Given the description of an element on the screen output the (x, y) to click on. 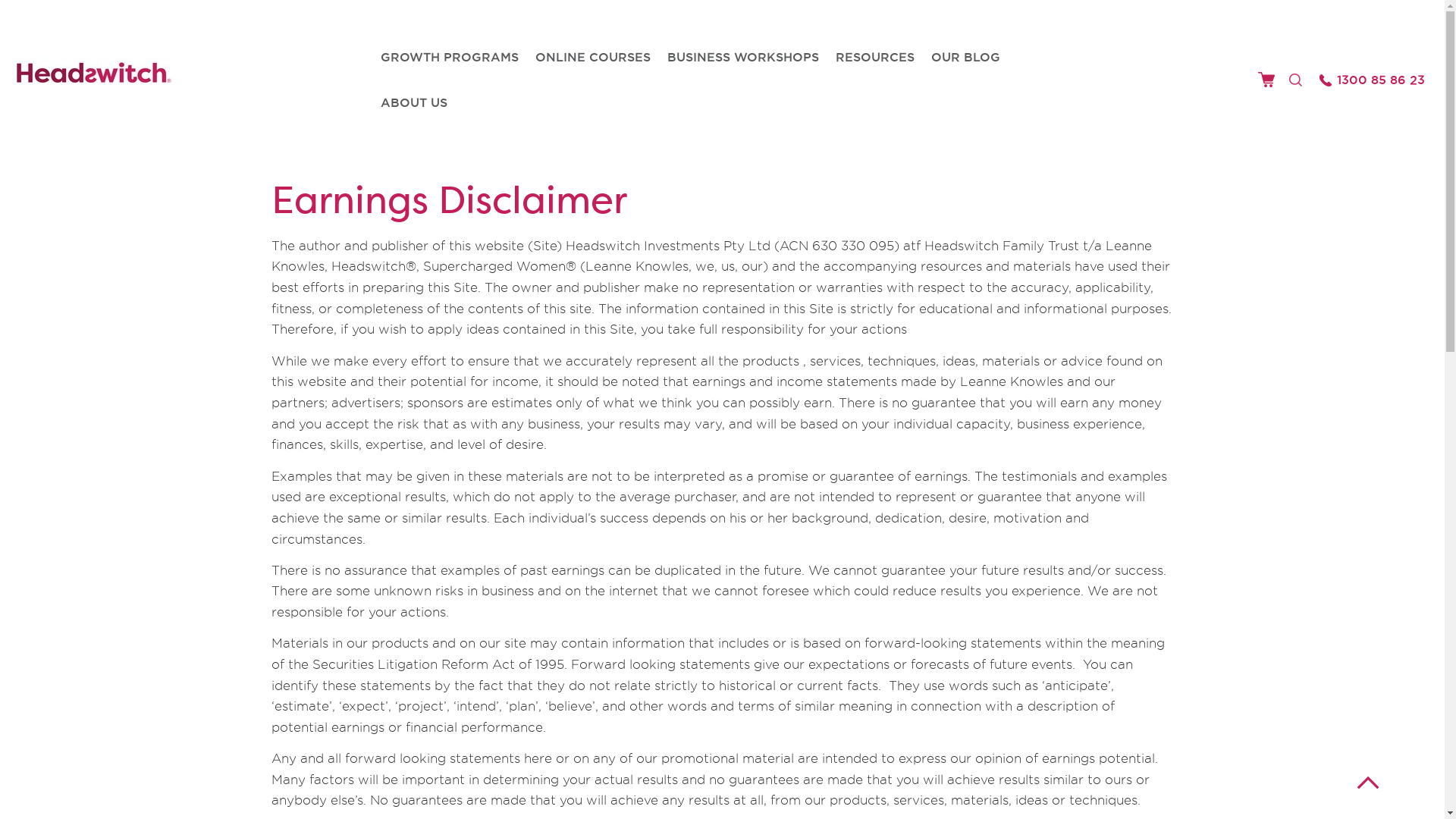
ABOUT US Element type: text (413, 102)
OUR BLOG Element type: text (965, 56)
1300 85 86 23 Element type: text (1375, 79)
RESOURCES Element type: text (874, 56)
ONLINE COURSES Element type: text (592, 56)
BUSINESS WORKSHOPS Element type: text (742, 56)
